Given the description of an element on the screen output the (x, y) to click on. 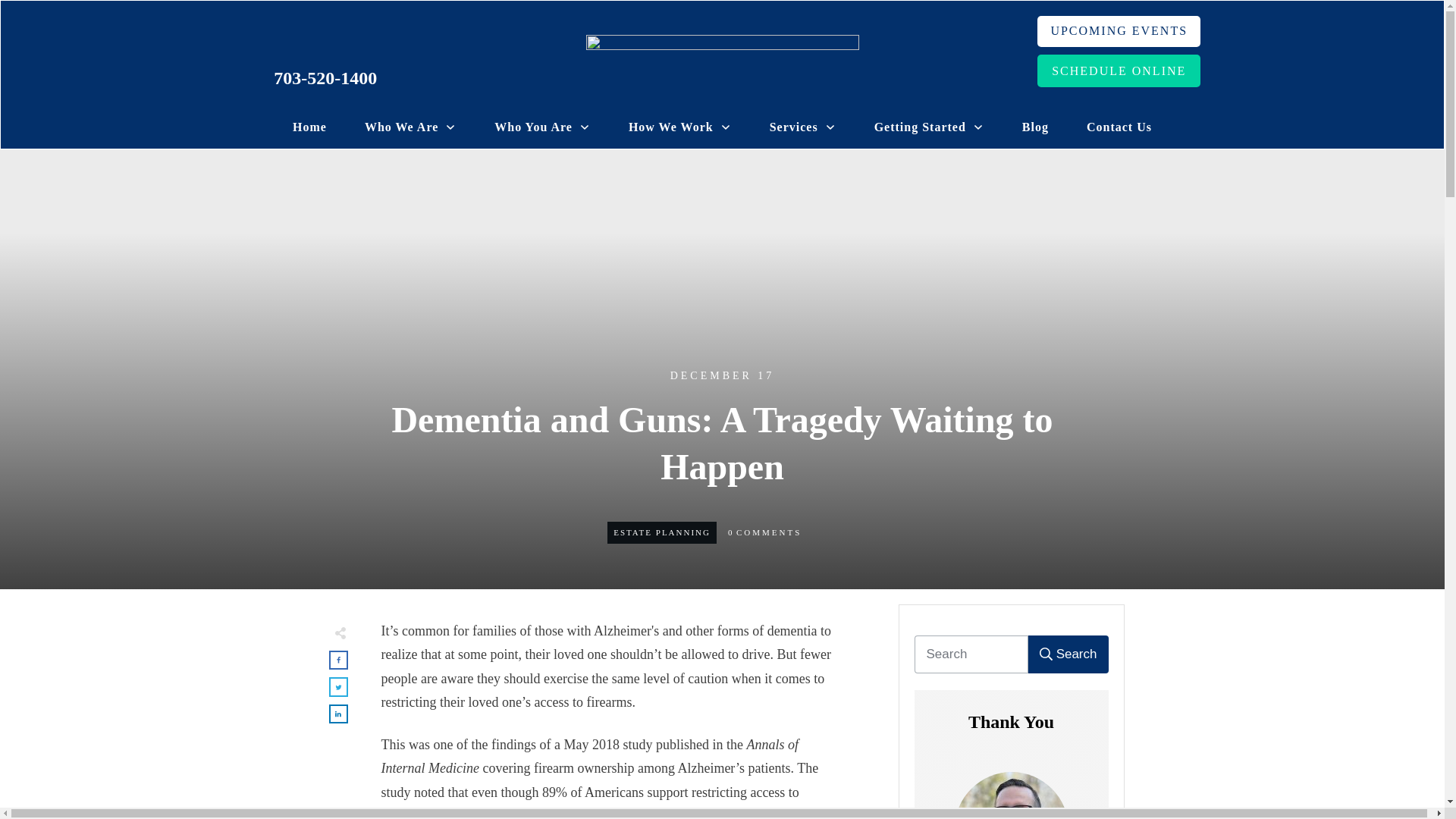
Home (309, 127)
MANIKAS PLC transparent (722, 65)
703-520-1400 (325, 77)
Who We Are (411, 127)
How We Work (680, 127)
Kyle Manikas Estate Planning Bio Pic 300sq (1010, 795)
Who You Are (543, 127)
Services (802, 127)
Blog (1035, 127)
UPCOMING EVENTS (1117, 30)
Getting Started (929, 127)
Estate Planning (661, 532)
SCHEDULE ONLINE (1117, 70)
